Given the description of an element on the screen output the (x, y) to click on. 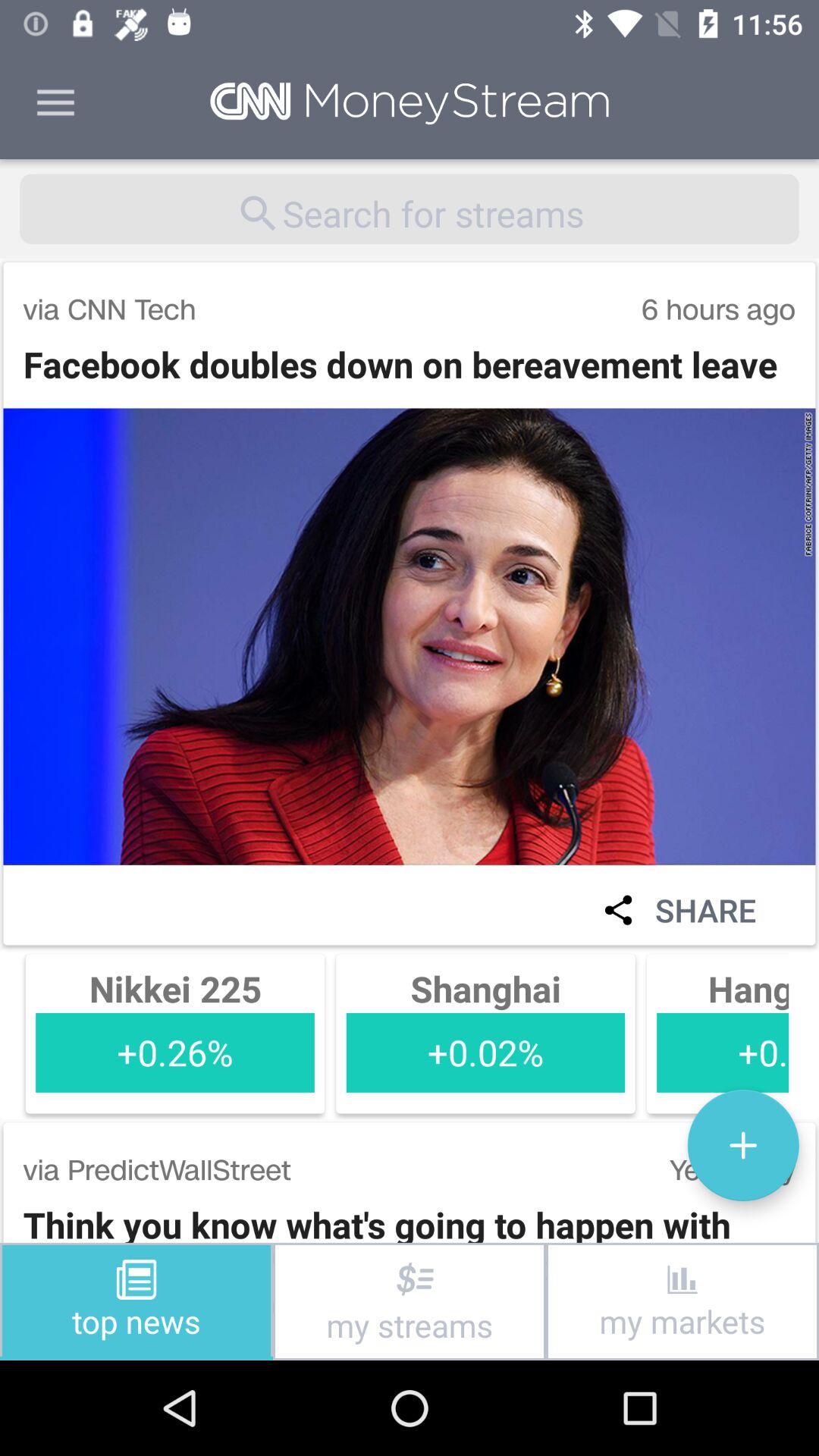
serch (409, 208)
